Given the description of an element on the screen output the (x, y) to click on. 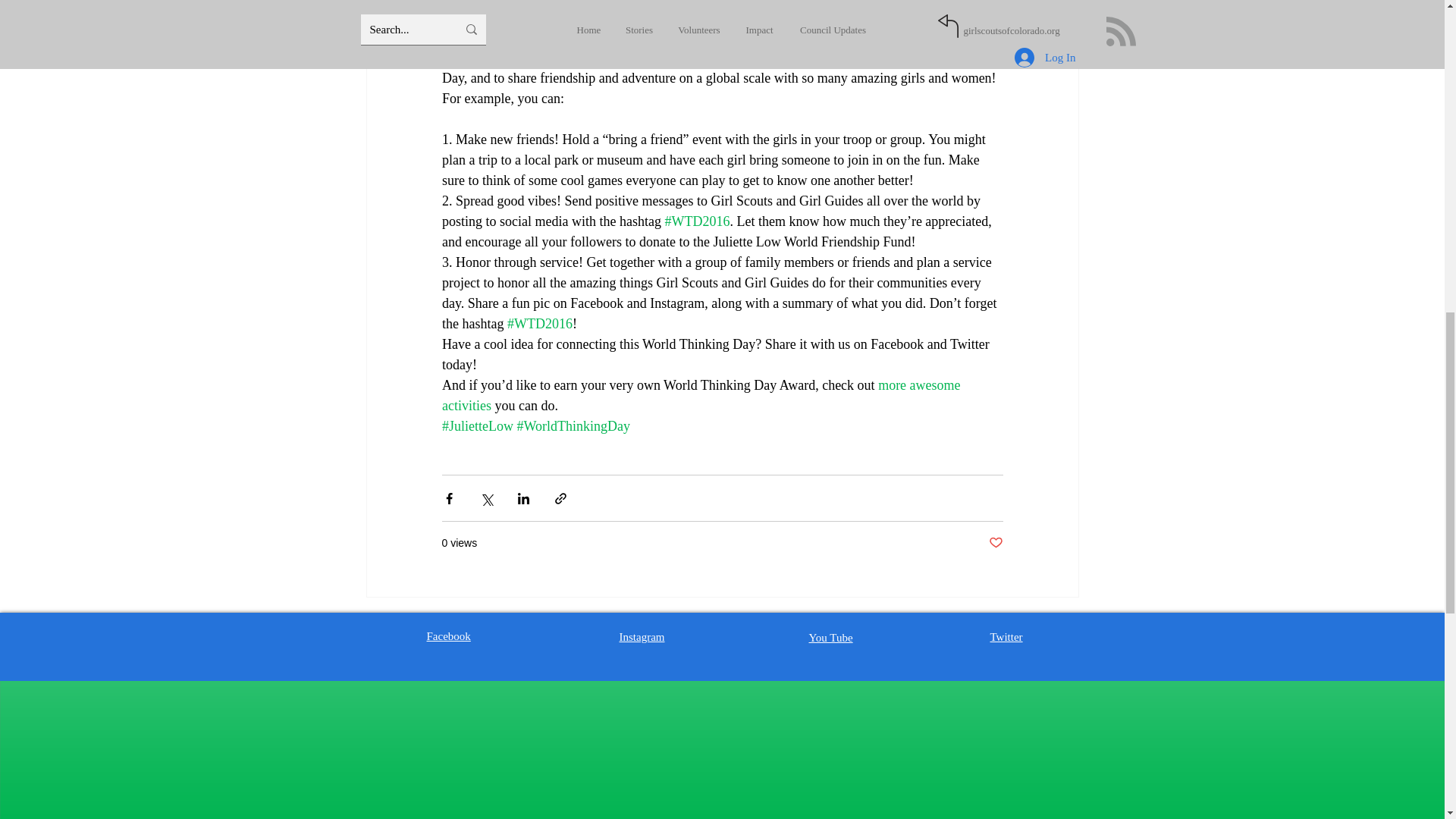
more awesome activities (701, 395)
You Tube (829, 637)
Post not marked as liked (995, 543)
Facebook (448, 635)
Juliette Low World Friendship Fund (690, 2)
Instagram (640, 636)
Twitter (1006, 636)
